Given the description of an element on the screen output the (x, y) to click on. 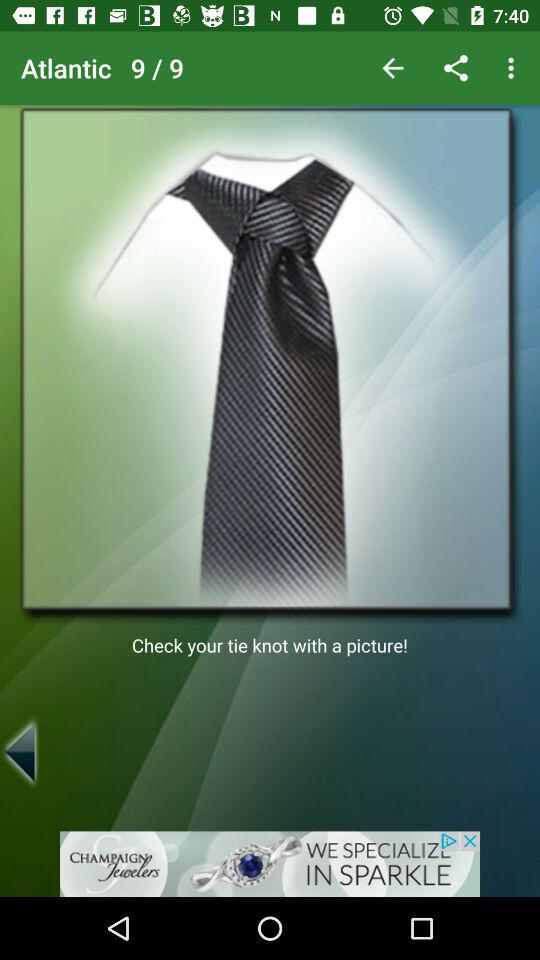
show outside advertisement (270, 864)
